Given the description of an element on the screen output the (x, y) to click on. 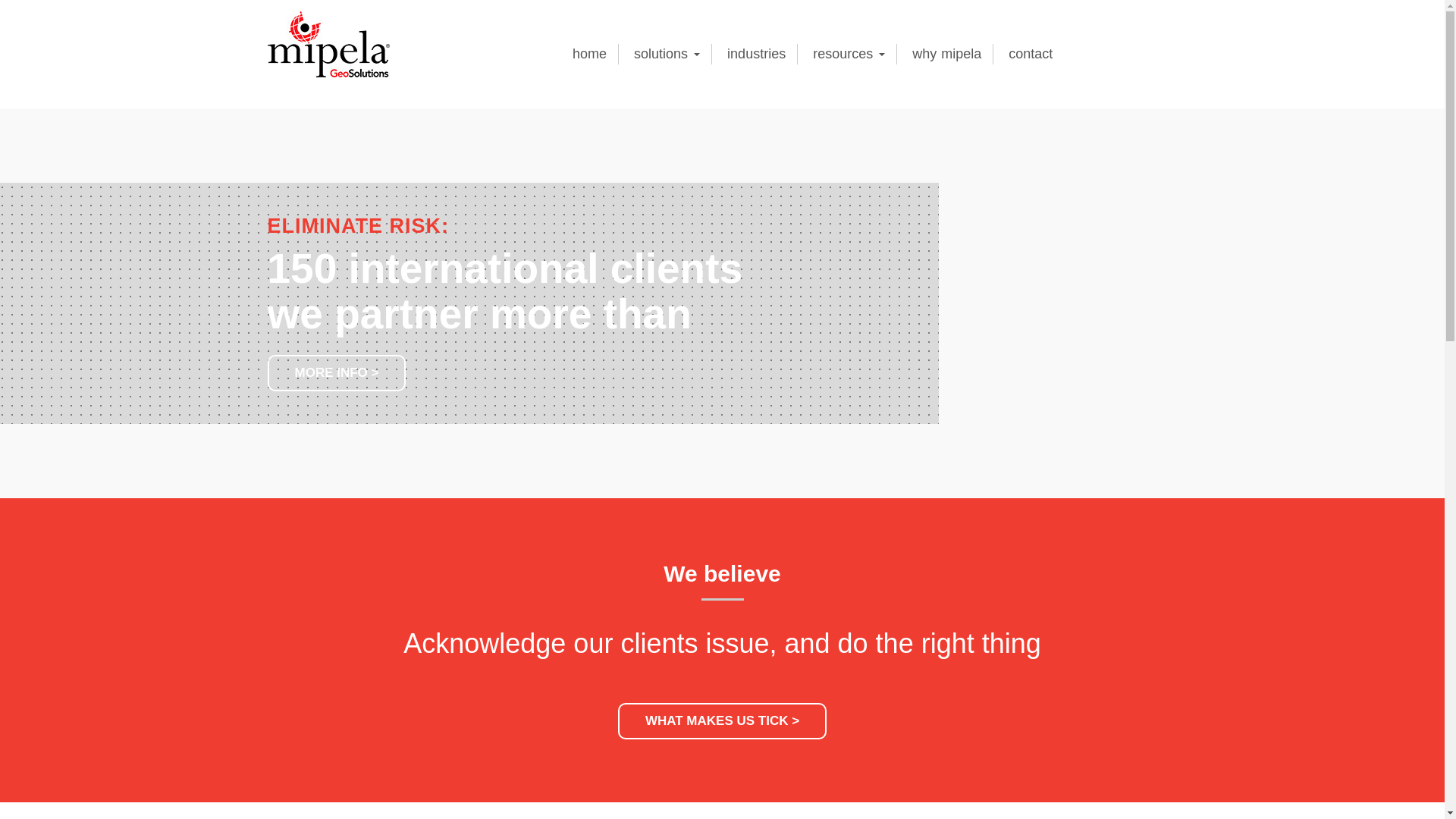
resources Element type: text (849, 53)
MORE INFO > Element type: text (335, 372)
solutions Element type: text (667, 53)
WHAT MAKES US TICK > Element type: text (722, 720)
contact Element type: text (1030, 53)
home Element type: text (589, 53)
industries Element type: text (756, 53)
Logo Element type: hover (327, 44)
why mipela Element type: text (946, 53)
